Given the description of an element on the screen output the (x, y) to click on. 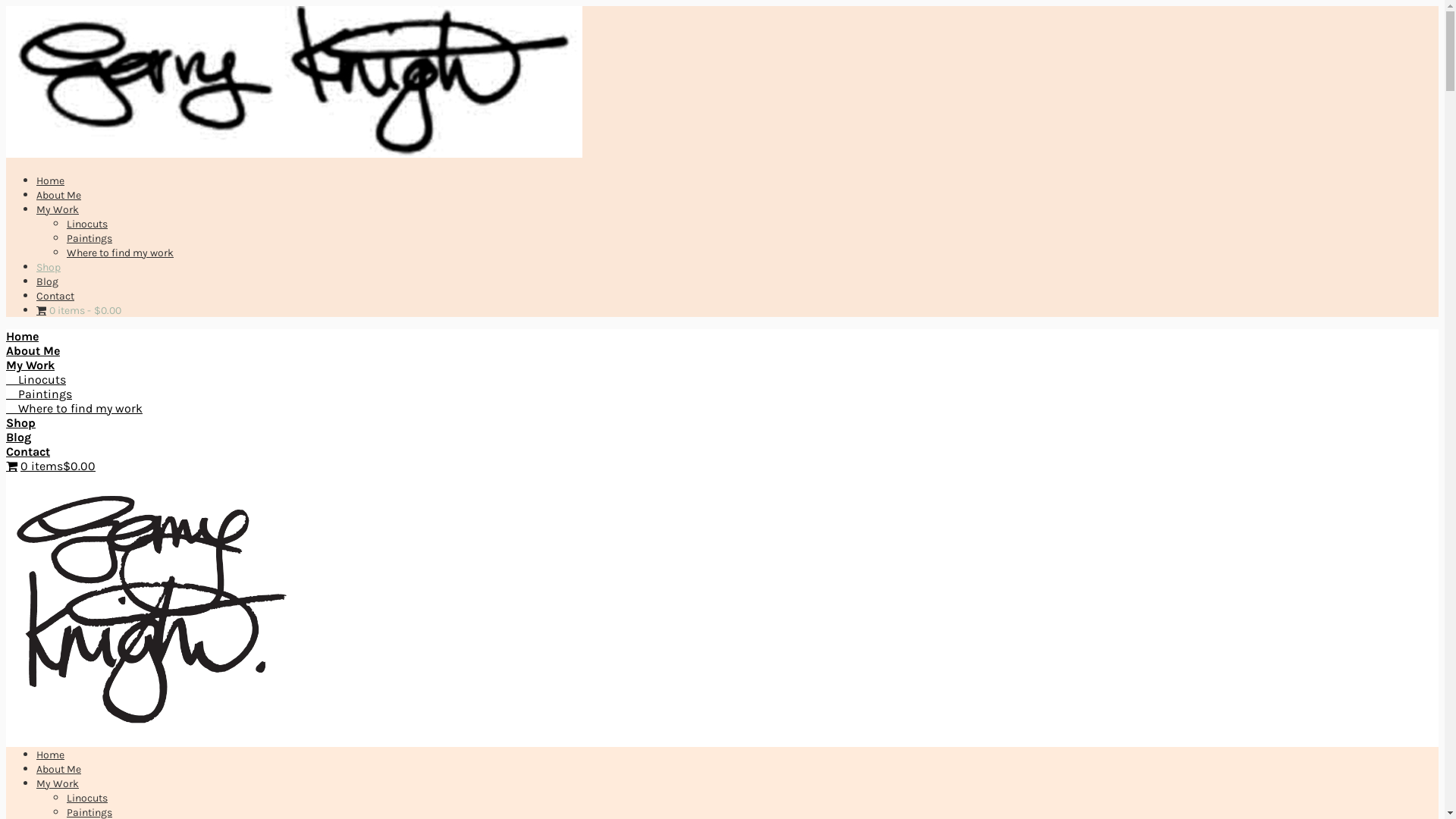
0 items$0.00 Element type: text (78, 310)
0 items$0.00 Element type: text (50, 465)
Contact Element type: text (55, 295)
Home Element type: text (50, 180)
About Me Element type: text (58, 768)
Home Element type: text (50, 754)
About Me Element type: text (32, 350)
My Work Element type: text (30, 364)
Linocuts Element type: text (86, 223)
My Work Element type: text (57, 783)
Home Element type: text (22, 336)
Where to find my work Element type: text (119, 252)
    Linocuts Element type: text (35, 379)
Contact Element type: text (28, 451)
Shop Element type: text (20, 422)
Paintings Element type: text (89, 238)
About Me Element type: text (58, 194)
Linocuts Element type: text (86, 797)
Shop Element type: text (48, 266)
My Work Element type: text (57, 209)
    Where to find my work Element type: text (74, 408)
    Paintings Element type: text (39, 393)
Blog Element type: text (18, 436)
Blog Element type: text (47, 281)
